Given the description of an element on the screen output the (x, y) to click on. 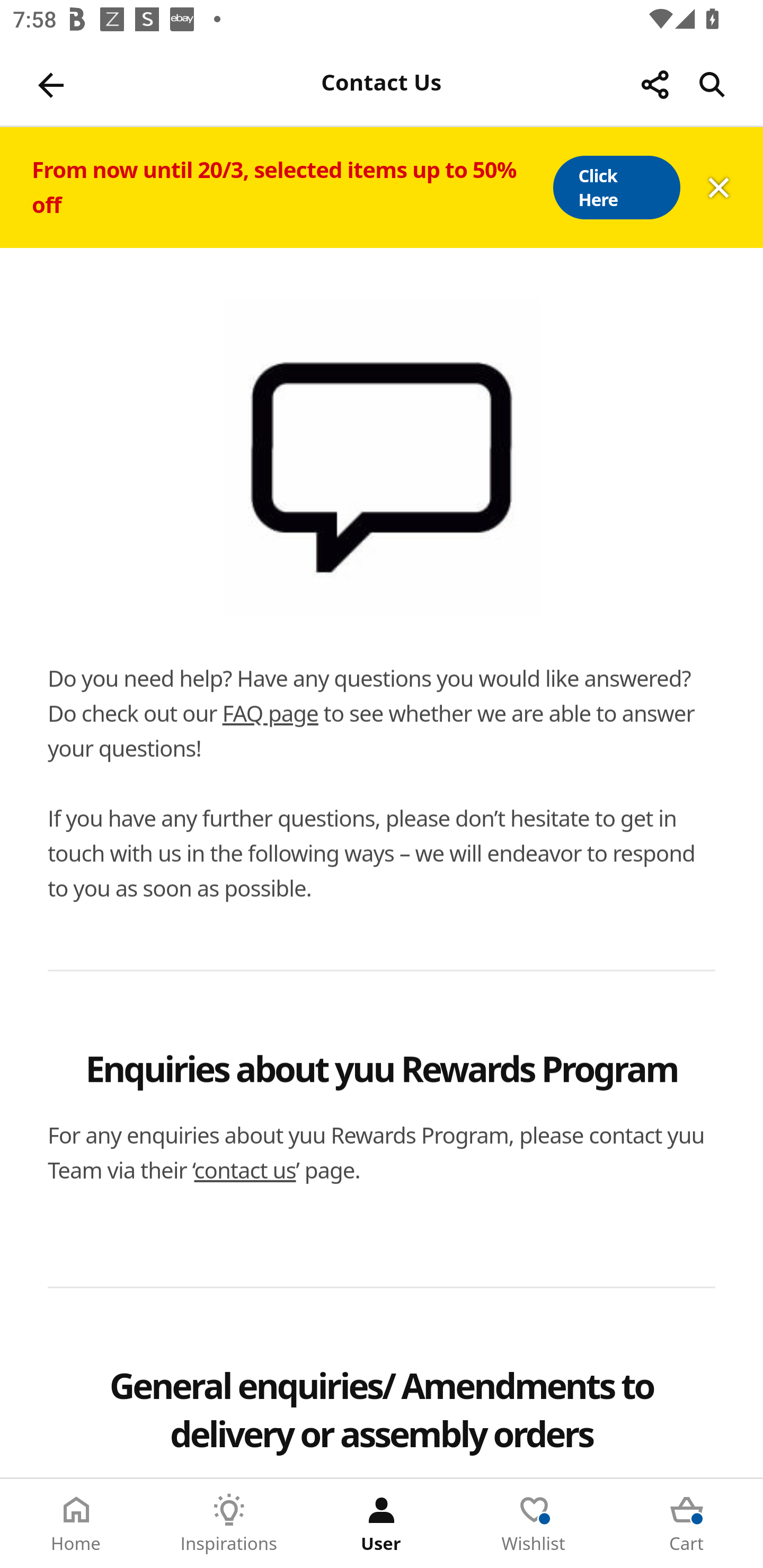
Click Here (615, 187)
FAQ page (270, 713)
contact us (245, 1169)
Home
Tab 1 of 5 (76, 1522)
Inspirations
Tab 2 of 5 (228, 1522)
User
Tab 3 of 5 (381, 1522)
Wishlist
Tab 4 of 5 (533, 1522)
Cart
Tab 5 of 5 (686, 1522)
